Given the description of an element on the screen output the (x, y) to click on. 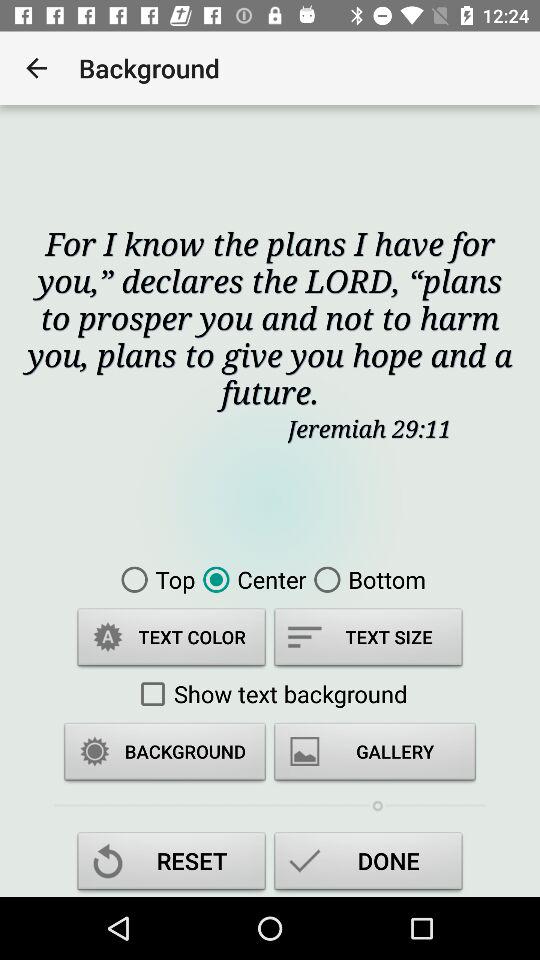
flip to the reset item (171, 863)
